Given the description of an element on the screen output the (x, y) to click on. 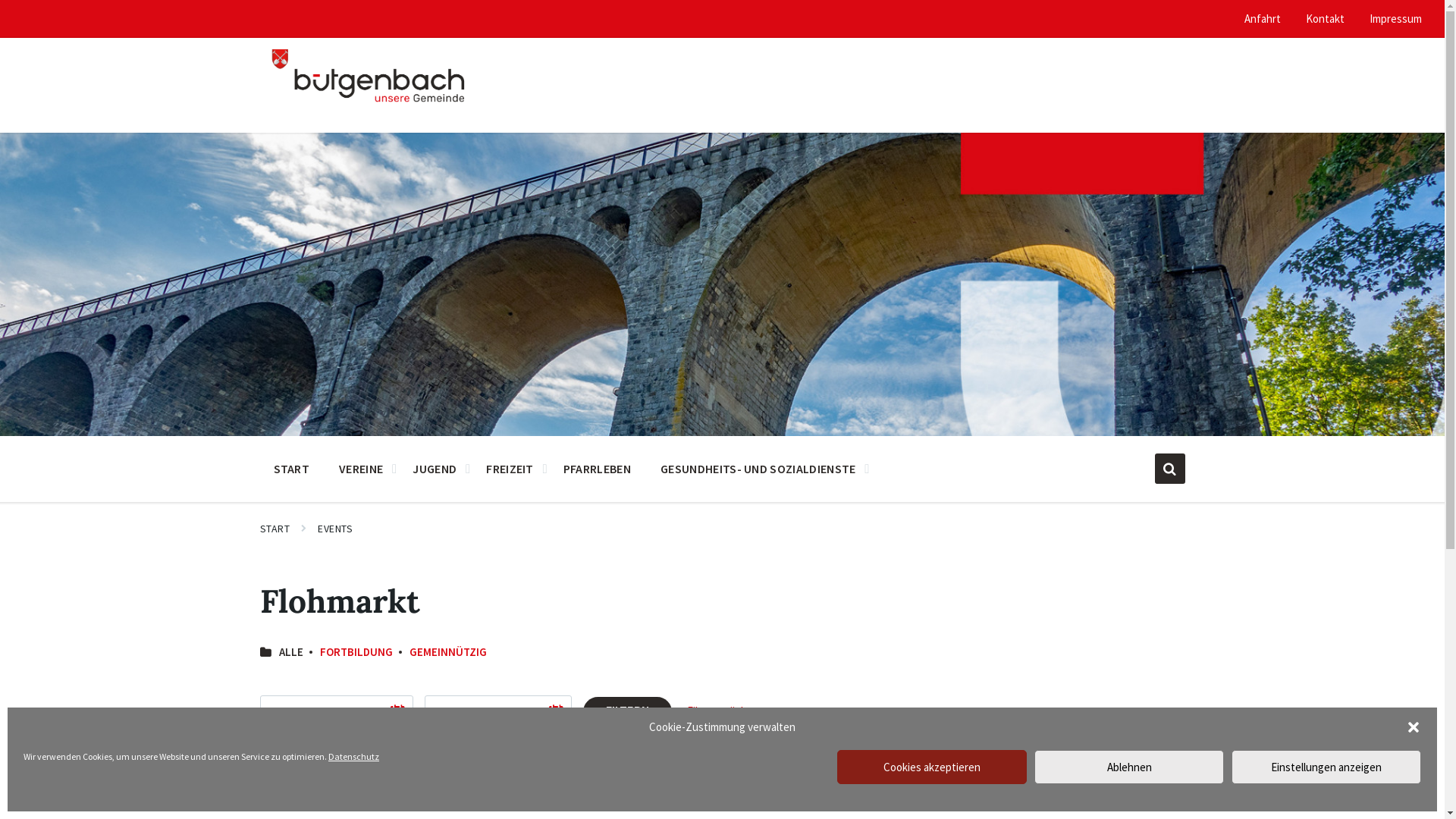
PFARRLEBEN Element type: text (597, 467)
JUGEND Element type: text (434, 467)
Kontakt Element type: text (1324, 18)
Impressum Element type: text (1395, 18)
Ablehnen Element type: text (1128, 766)
EVENTS Element type: text (334, 528)
Anfahrt Element type: text (1262, 18)
FREIZEIT Element type: text (509, 467)
GESUNDHEITS- UND SOZIALDIENSTE Element type: text (758, 467)
START Element type: text (290, 467)
VEREINE Element type: text (360, 467)
Datenschutz Element type: text (353, 756)
Cookies akzeptieren Element type: text (931, 766)
FORTBILDUNG Element type: text (356, 651)
START Element type: text (274, 528)
Einstellungen anzeigen Element type: text (1326, 766)
Expand search Element type: hover (1169, 468)
FILTERN Element type: text (626, 711)
